Given the description of an element on the screen output the (x, y) to click on. 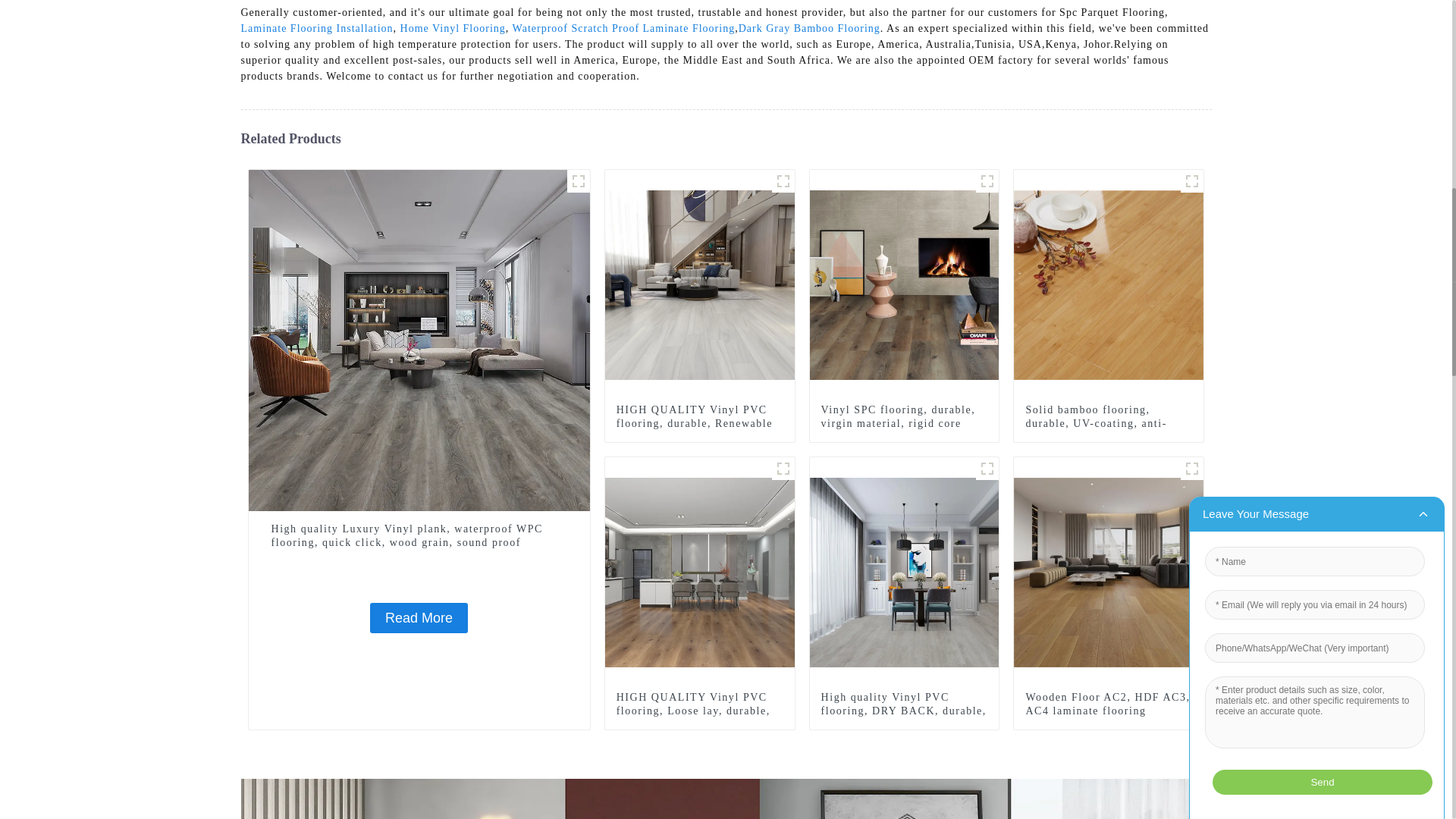
Dark Gray Bamboo Flooring (809, 28)
Waterproof Scratch Proof Laminate Flooring (623, 28)
Waterproof Scratch Proof Laminate Flooring (623, 28)
Home Vinyl Flooring (452, 28)
main (782, 468)
Home Vinyl Flooring (452, 28)
main (986, 180)
main (578, 180)
Dark Gray Bamboo Flooring (809, 28)
